Given the description of an element on the screen output the (x, y) to click on. 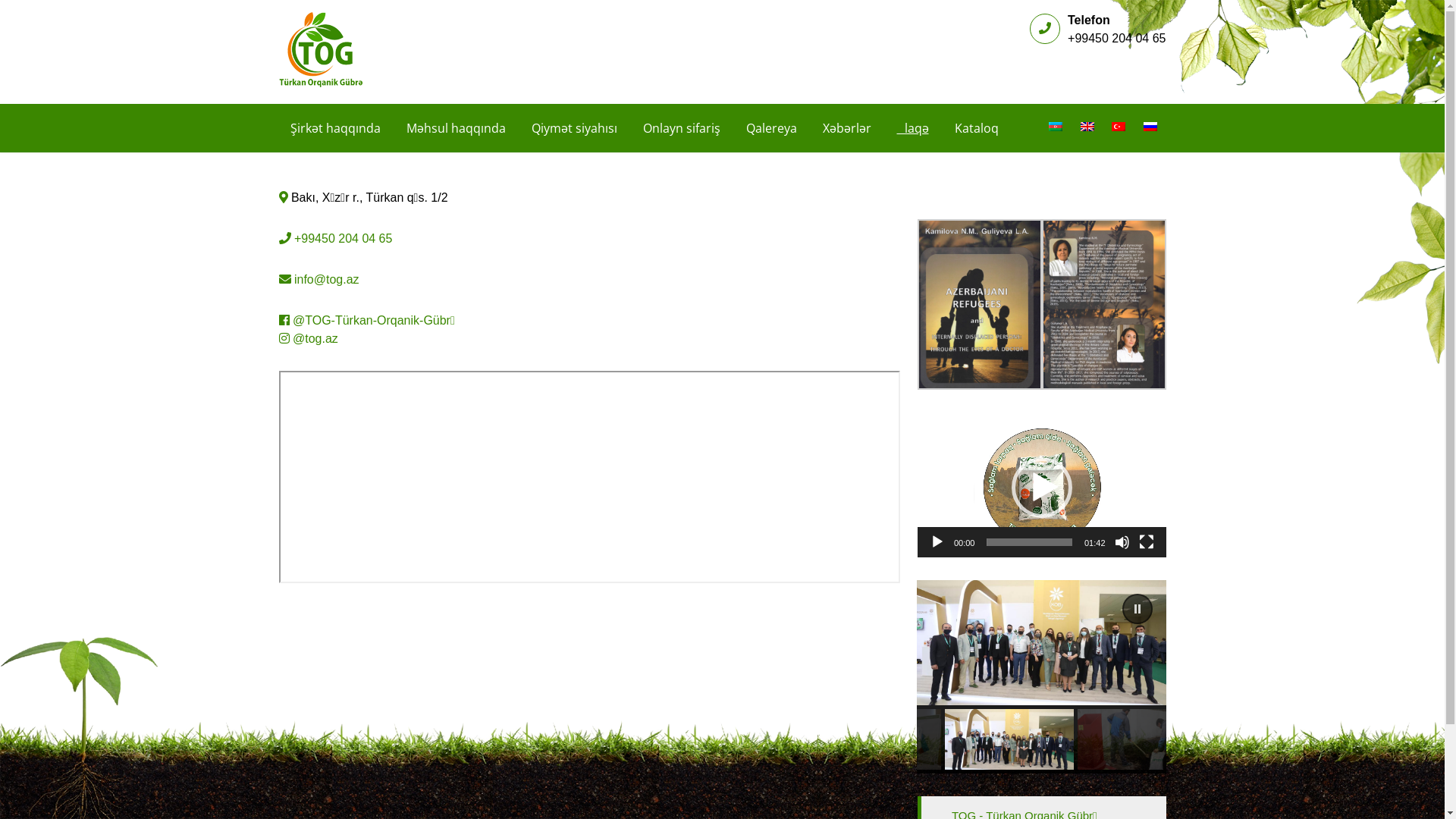
Fullscreen Element type: hover (1146, 541)
info@tog.az Element type: text (326, 279)
Qalereya Element type: text (770, 127)
@tog.az Element type: text (315, 338)
+99450 204 04 65 Element type: text (343, 238)
Kataloq Element type: text (976, 127)
Mute Element type: hover (1121, 541)
Play Element type: hover (936, 541)
